Given the description of an element on the screen output the (x, y) to click on. 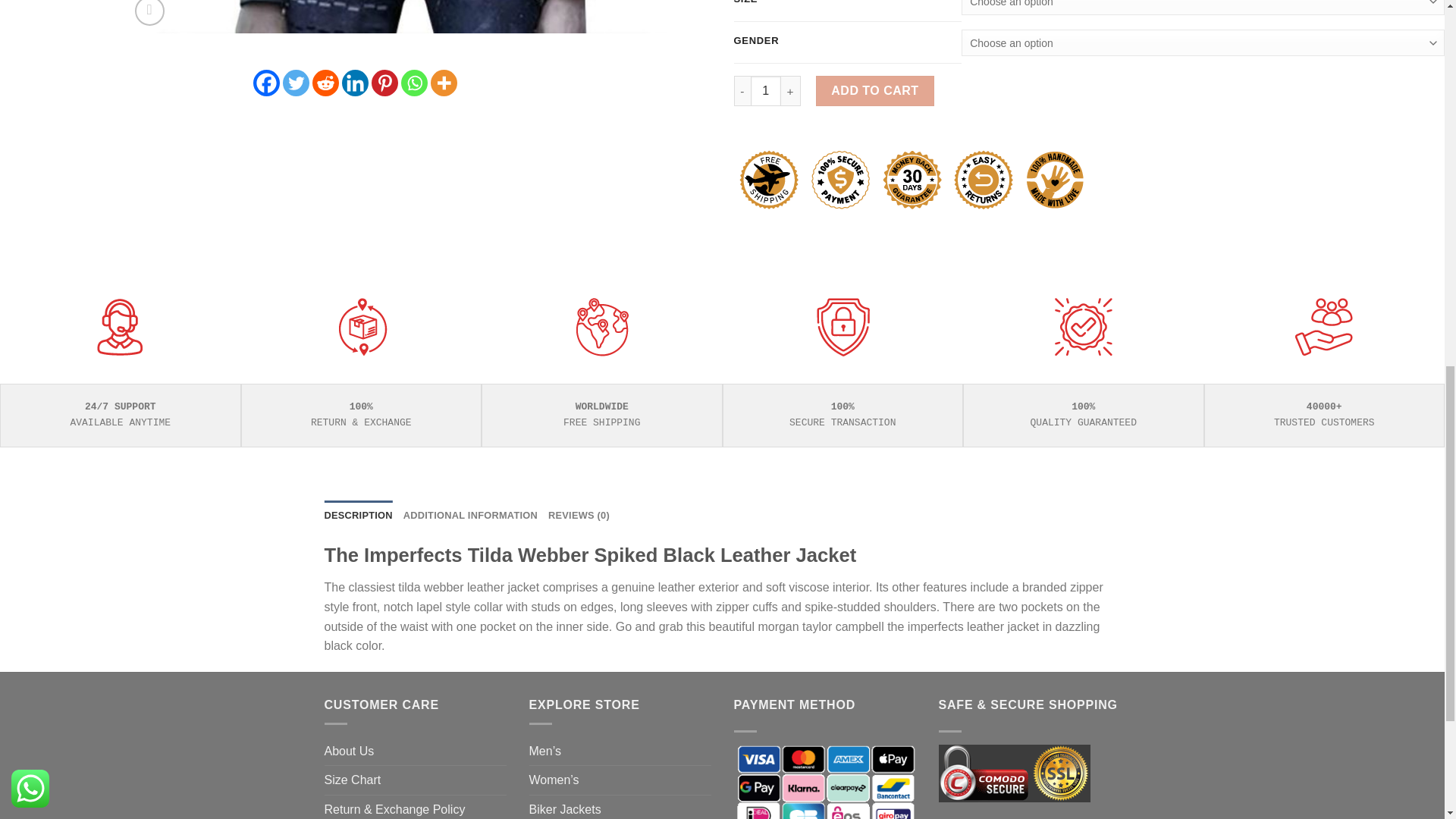
Facebook (266, 82)
Linkedin (355, 82)
Pinterest (384, 82)
More (443, 82)
Qty (765, 91)
Twitter (295, 82)
tilda-webber-leather-jacket (414, 16)
1 (765, 91)
Reddit (326, 82)
Whatsapp (414, 82)
